Given the description of an element on the screen output the (x, y) to click on. 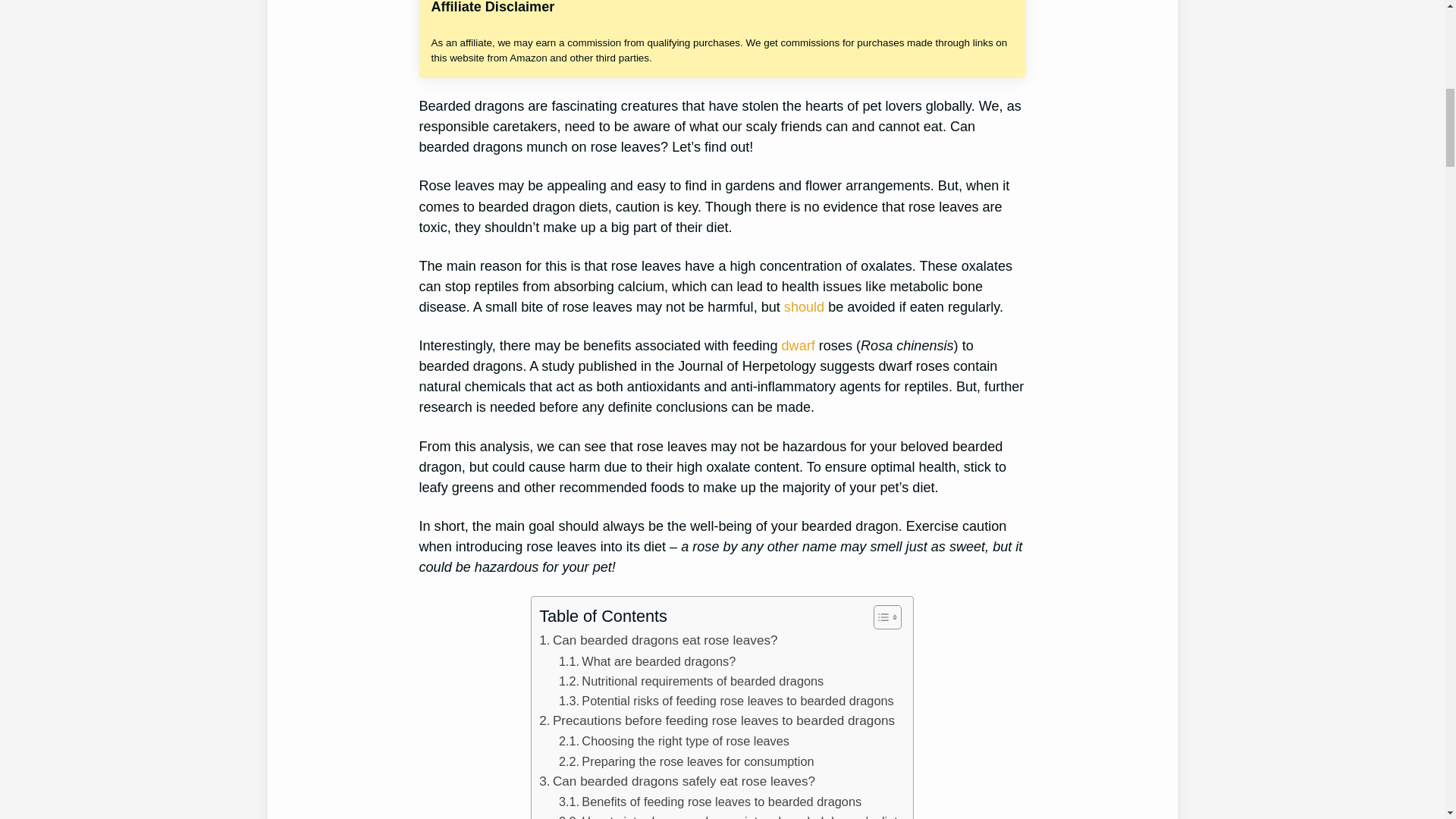
Preparing the rose leaves for consumption (686, 760)
should (804, 306)
Can bearded dragons safely eat rose leaves? (676, 781)
Precautions before feeding rose leaves to bearded dragons (716, 720)
Choosing the right type of rose leaves (674, 741)
dwarf (798, 345)
Can bearded dragons eat rose leaves? (657, 639)
should (804, 306)
Nutritional requirements of bearded dragons (691, 680)
What are bearded dragons? (647, 660)
